Given the description of an element on the screen output the (x, y) to click on. 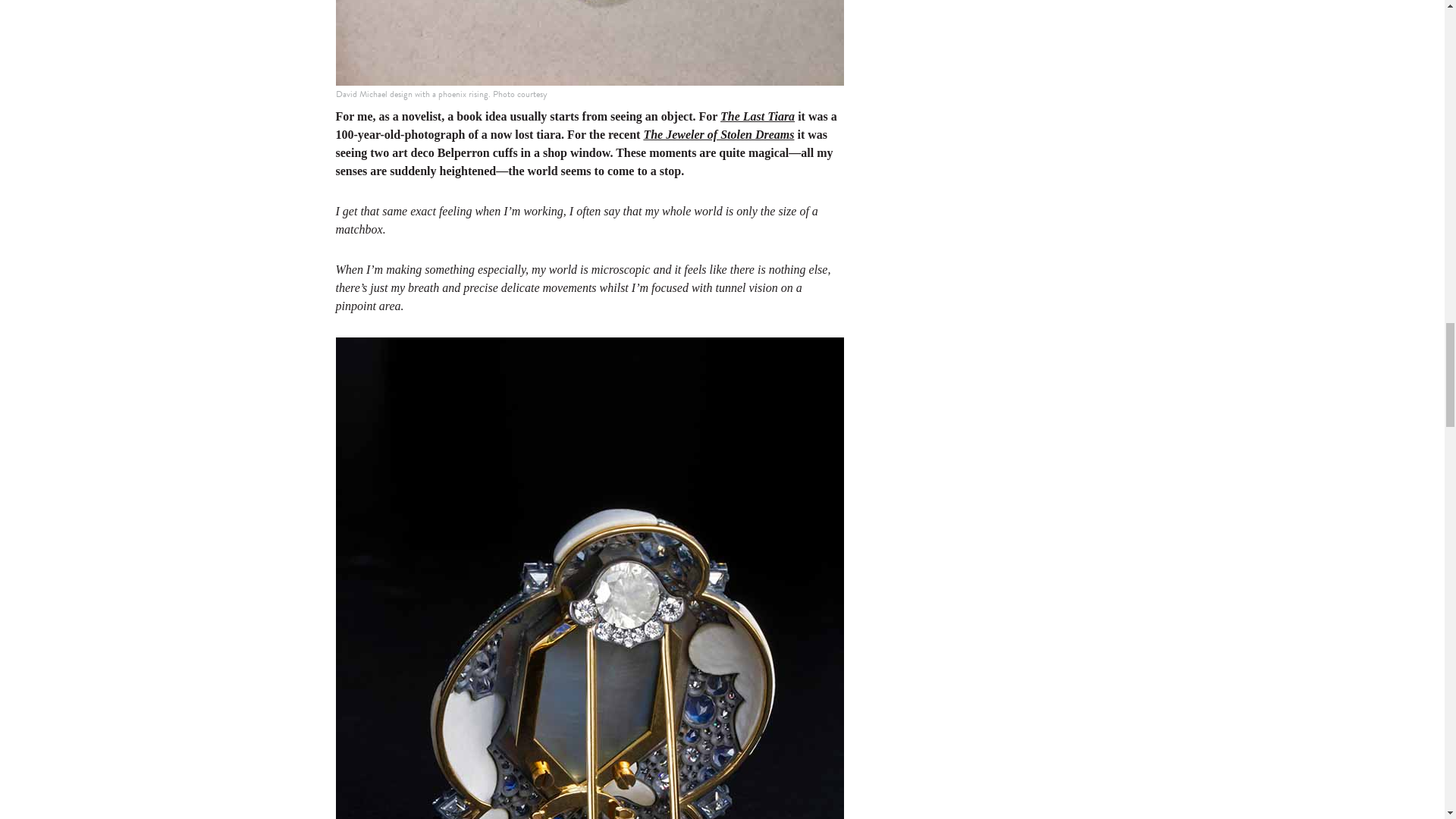
The Jeweler of Stolen Dreams (718, 133)
The Last Tiara (757, 115)
